Given the description of an element on the screen output the (x, y) to click on. 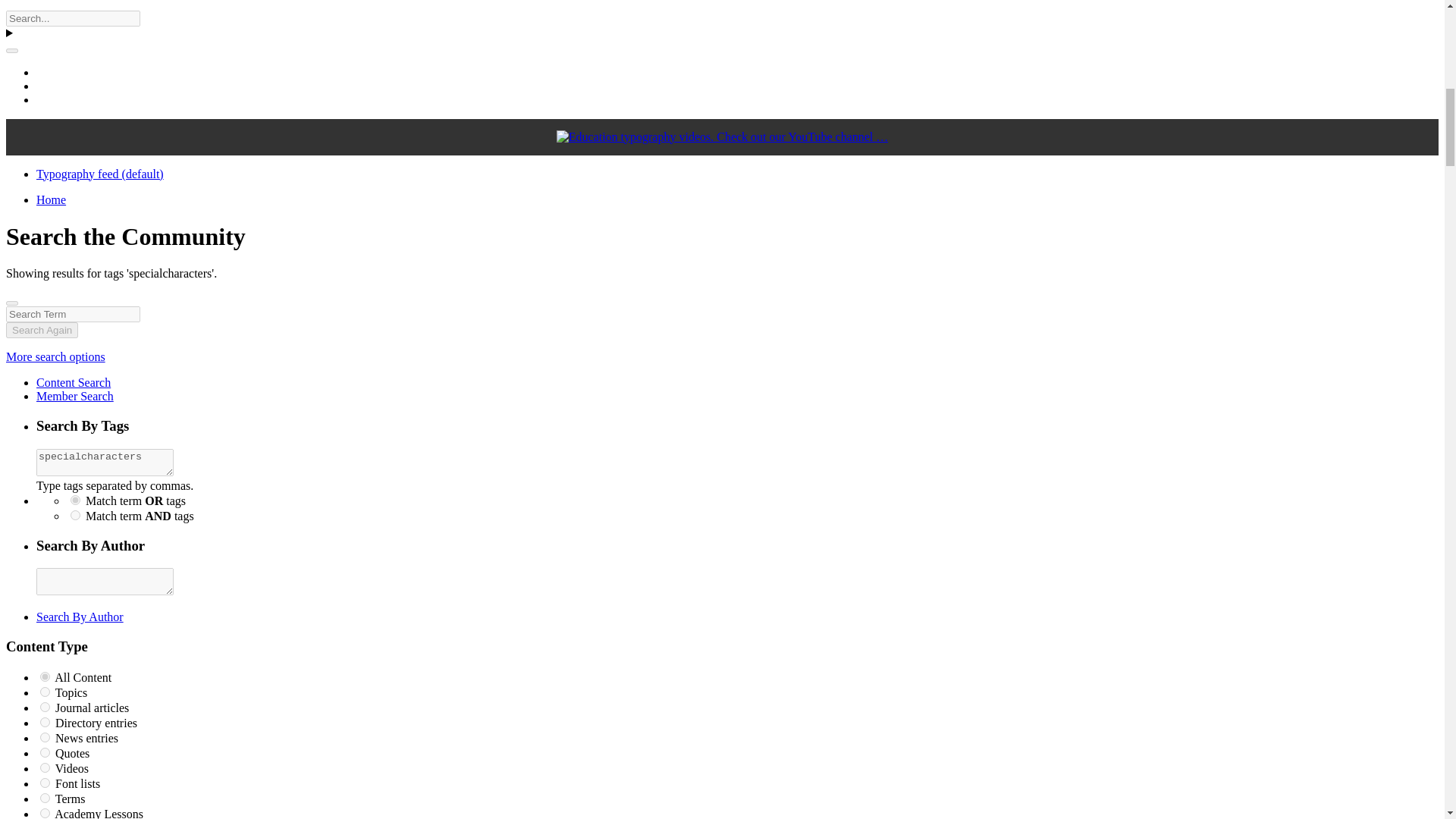
Search our members (74, 395)
Search in our content (73, 382)
or (74, 500)
Home (50, 199)
and (74, 515)
